Given the description of an element on the screen output the (x, y) to click on. 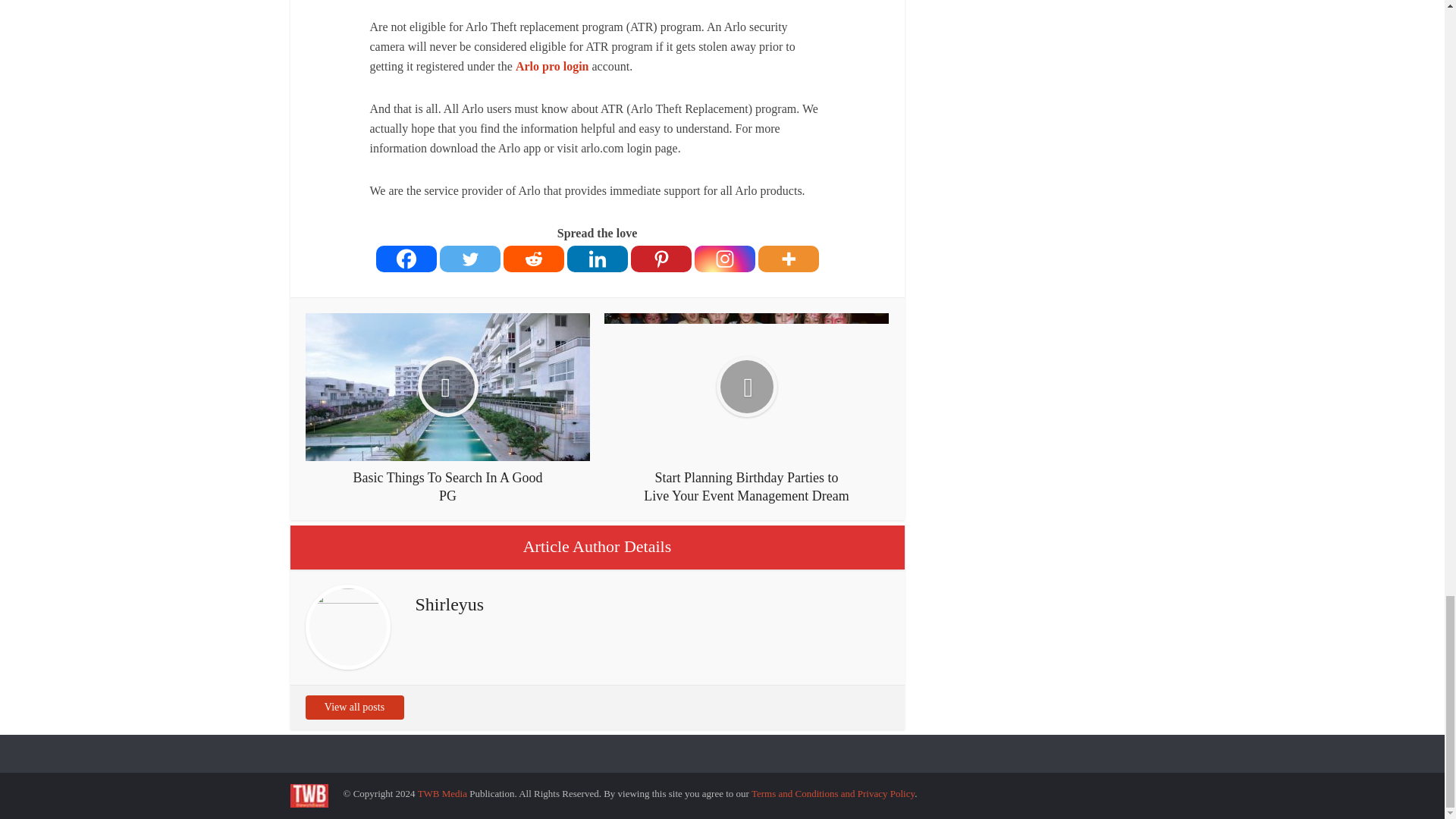
Pinterest (660, 257)
Basic Things To Search In A Good PG (447, 408)
 and Arlo pro login (552, 65)
More (788, 257)
Arlo pro login (552, 65)
View all posts (353, 707)
